Given the description of an element on the screen output the (x, y) to click on. 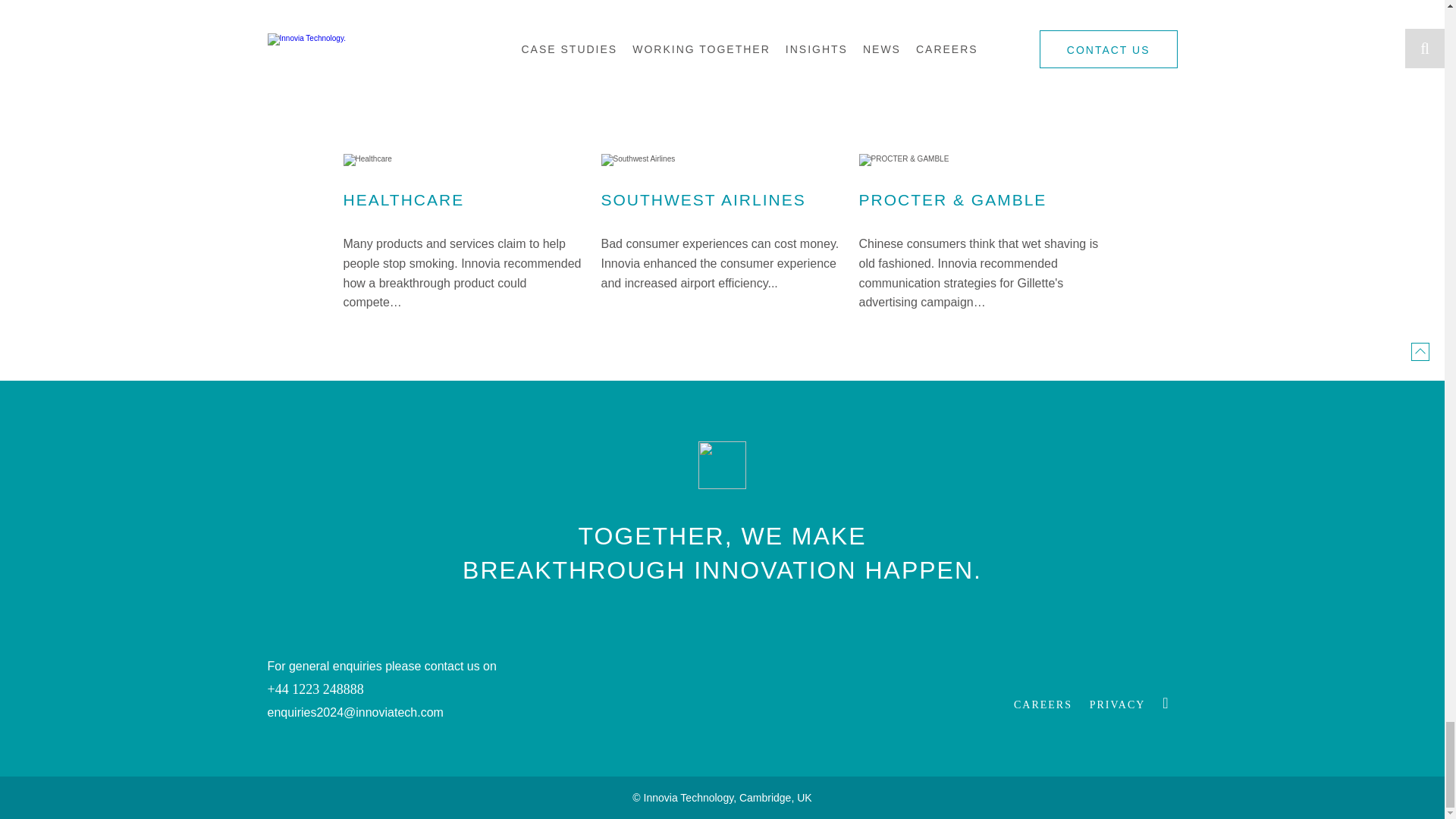
CAREERS (1042, 704)
PRIVACY (1117, 704)
